Given the description of an element on the screen output the (x, y) to click on. 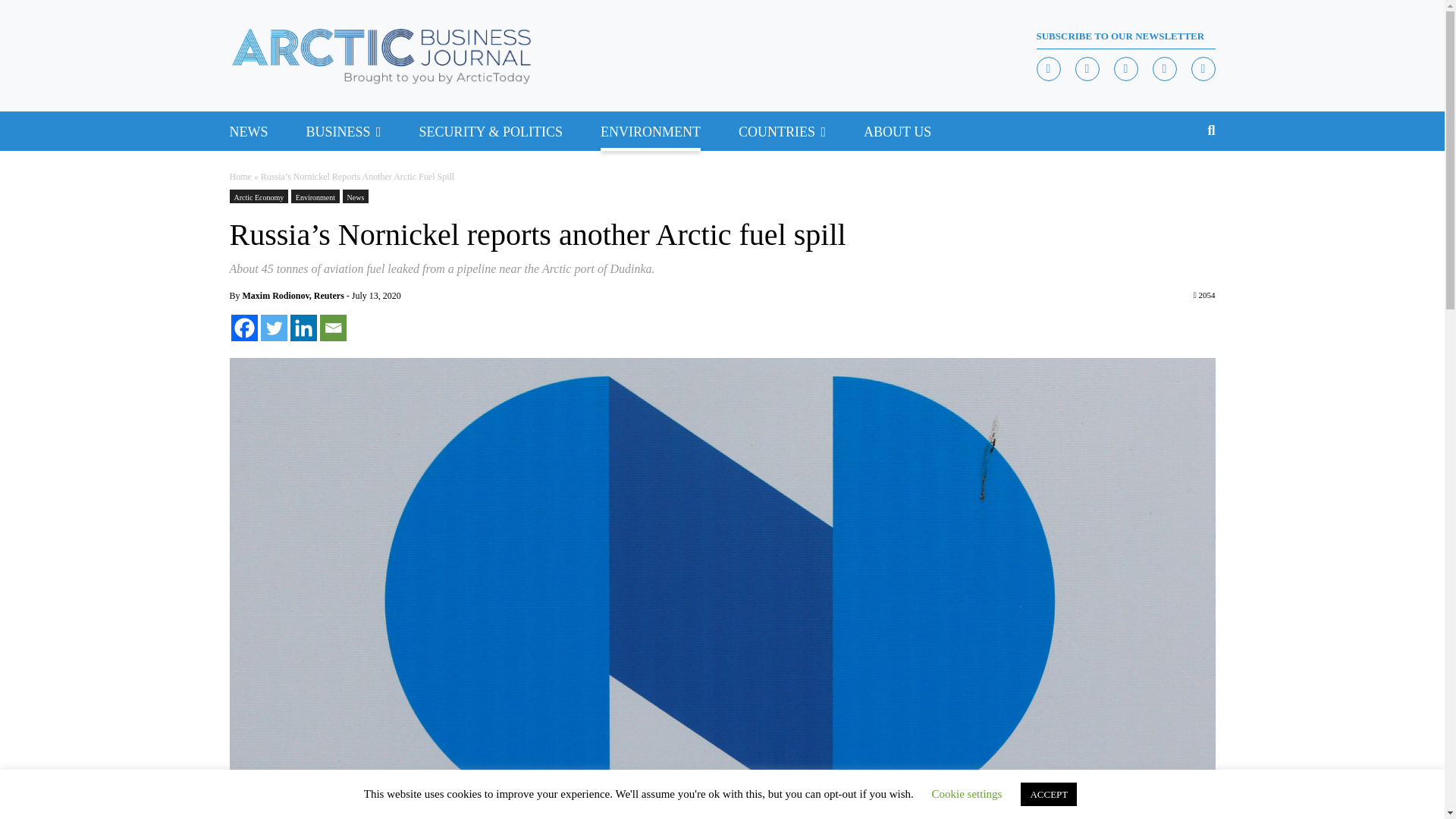
NEWS (247, 130)
SUBSCRIBE TO OUR NEWSLETTER (1124, 36)
BUSINESS (338, 130)
